Given the description of an element on the screen output the (x, y) to click on. 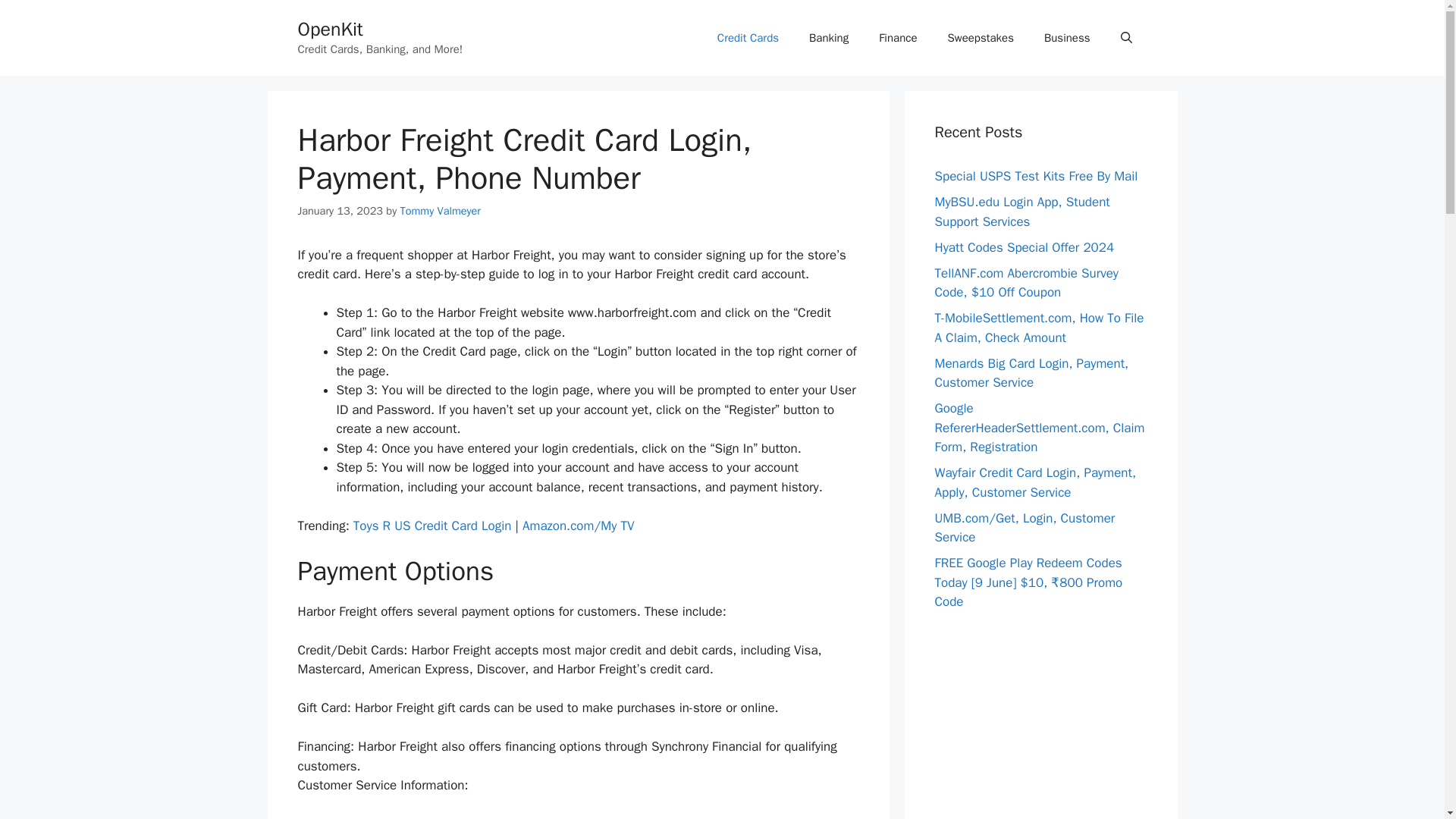
MyBSU.edu Login App, Student Support Services (1021, 212)
Google RefererHeaderSettlement.com, Claim Form, Registration (1039, 427)
Banking (828, 37)
Finance (897, 37)
Business (1067, 37)
Menards Big Card Login, Payment, Customer Service (1031, 372)
Tommy Valmeyer (440, 210)
Credit Cards (747, 37)
Wayfair Credit Card Login, Payment, Apply, Customer Service (1034, 482)
OpenKit (329, 28)
View all posts by Tommy Valmeyer (440, 210)
Advertisement (1040, 719)
T-MobileSettlement.com, How To File A Claim, Check Amount (1038, 327)
Toys R US Credit Card Login (432, 525)
Sweepstakes (981, 37)
